Given the description of an element on the screen output the (x, y) to click on. 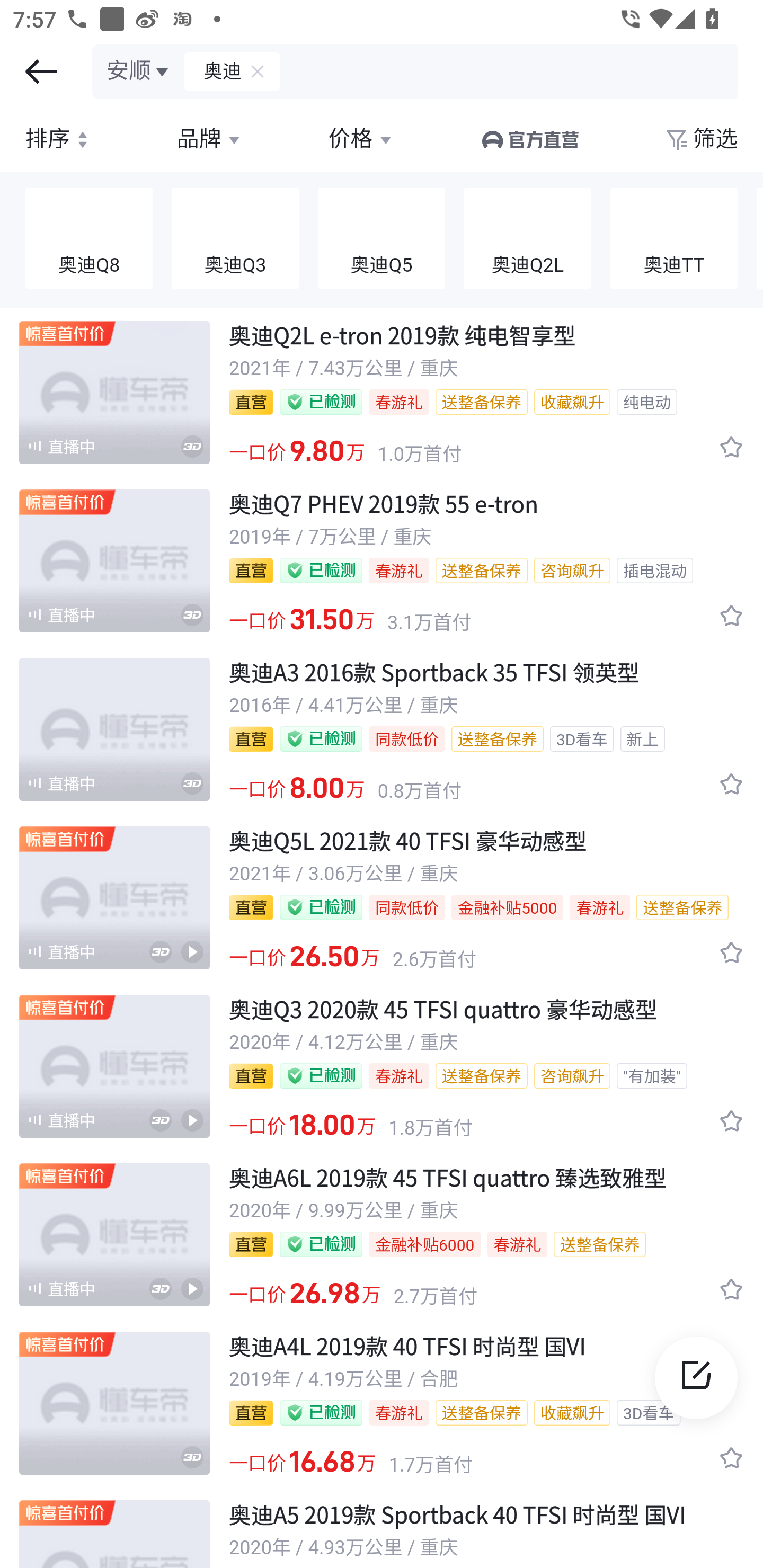
安顺 (139, 70)
奥迪 (213, 70)
排序 (59, 139)
品牌 (210, 139)
价格 (361, 139)
官方直营 (528, 139)
筛选 (700, 139)
奥迪Q8 (88, 239)
奥迪Q3 (235, 239)
奥迪Q5 (381, 239)
奥迪Q2L (527, 239)
奥迪TT (673, 239)
